Given the description of an element on the screen output the (x, y) to click on. 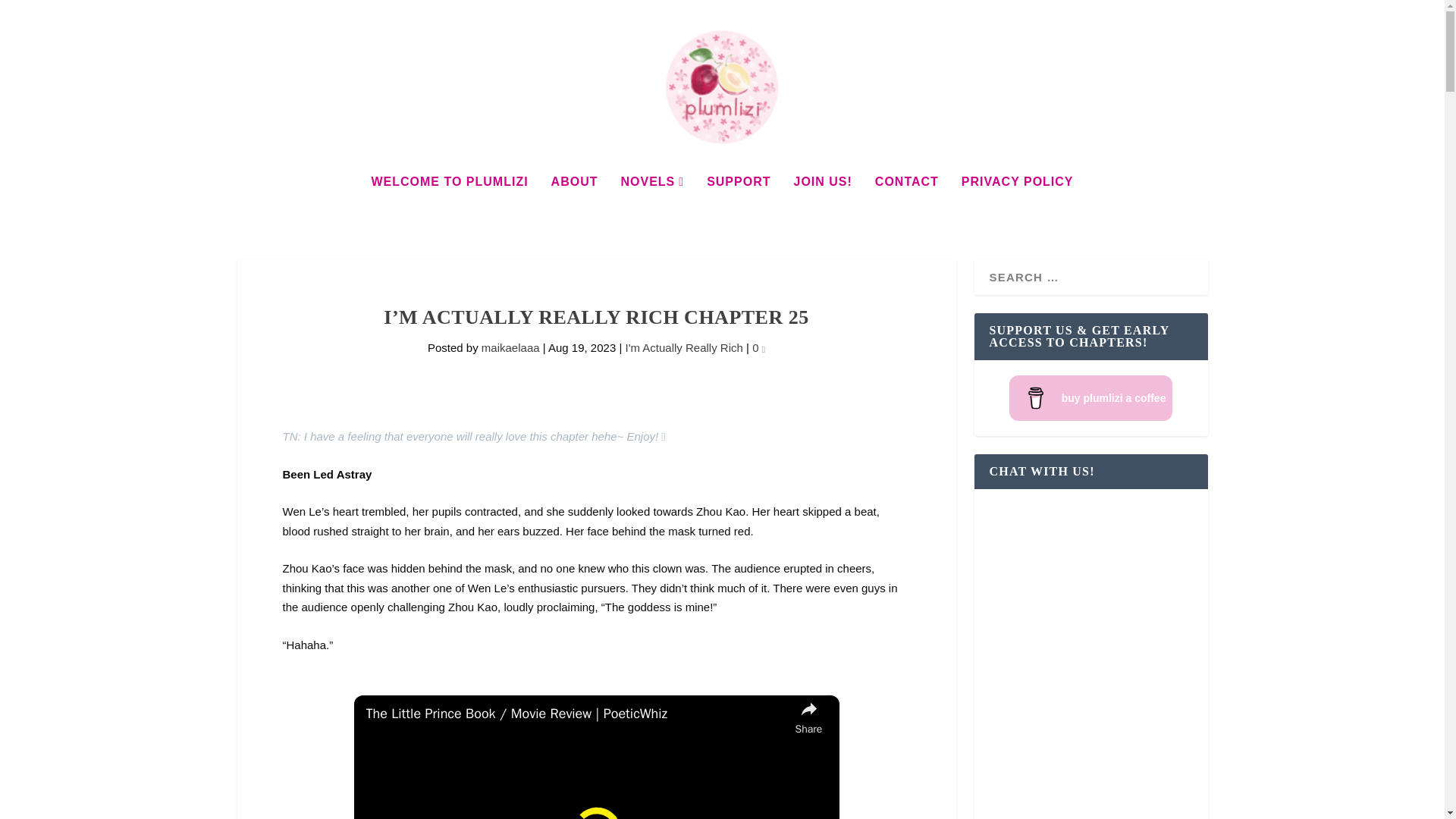
NOVELS (652, 202)
SUPPORT (738, 202)
PRIVACY POLICY (1017, 202)
Posts by maikaelaaa (510, 347)
WELCOME TO PLUMLIZI (449, 202)
CONTACT (907, 202)
JOIN US! (822, 202)
